Given the description of an element on the screen output the (x, y) to click on. 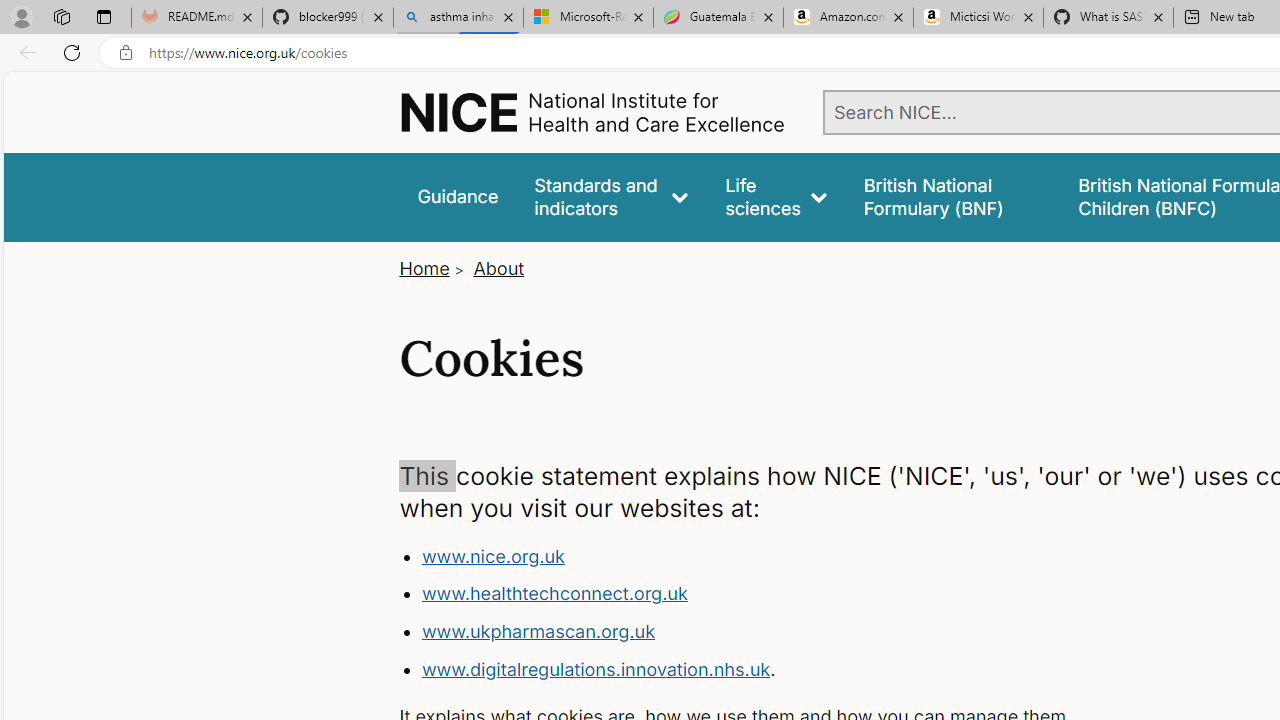
Home> (433, 268)
Life sciences (776, 196)
www.healthtechconnect.org.uk (796, 594)
www.digitalregulations.innovation.nhs.uk. (796, 669)
www.nice.org.uk (492, 556)
www.digitalregulations.innovation.nhs.uk (595, 668)
Guidance (458, 196)
false (952, 196)
